Given the description of an element on the screen output the (x, y) to click on. 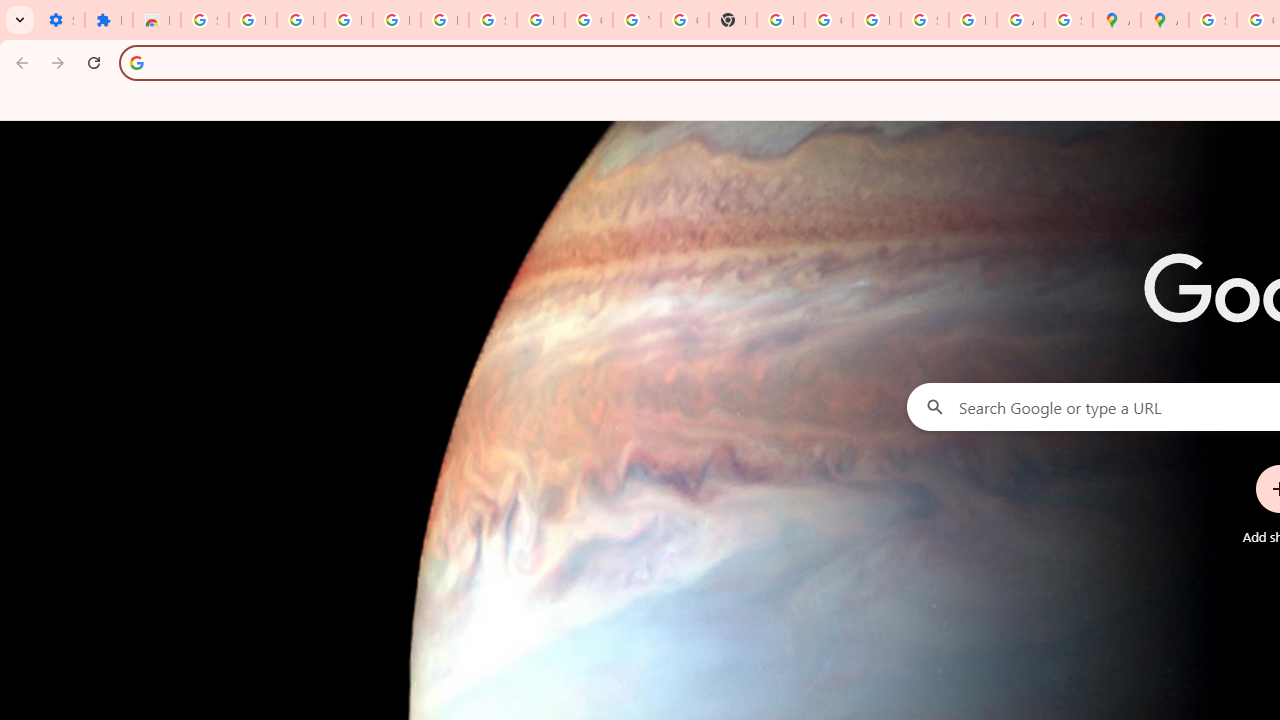
Learn how to find your photos - Google Photos Help (396, 20)
Sign in - Google Accounts (204, 20)
Sign in - Google Accounts (1212, 20)
Safety in Our Products - Google Safety Center (1068, 20)
Reviews: Helix Fruit Jump Arcade Game (156, 20)
Sign in - Google Accounts (492, 20)
Delete photos & videos - Computer - Google Photos Help (348, 20)
